Given the description of an element on the screen output the (x, y) to click on. 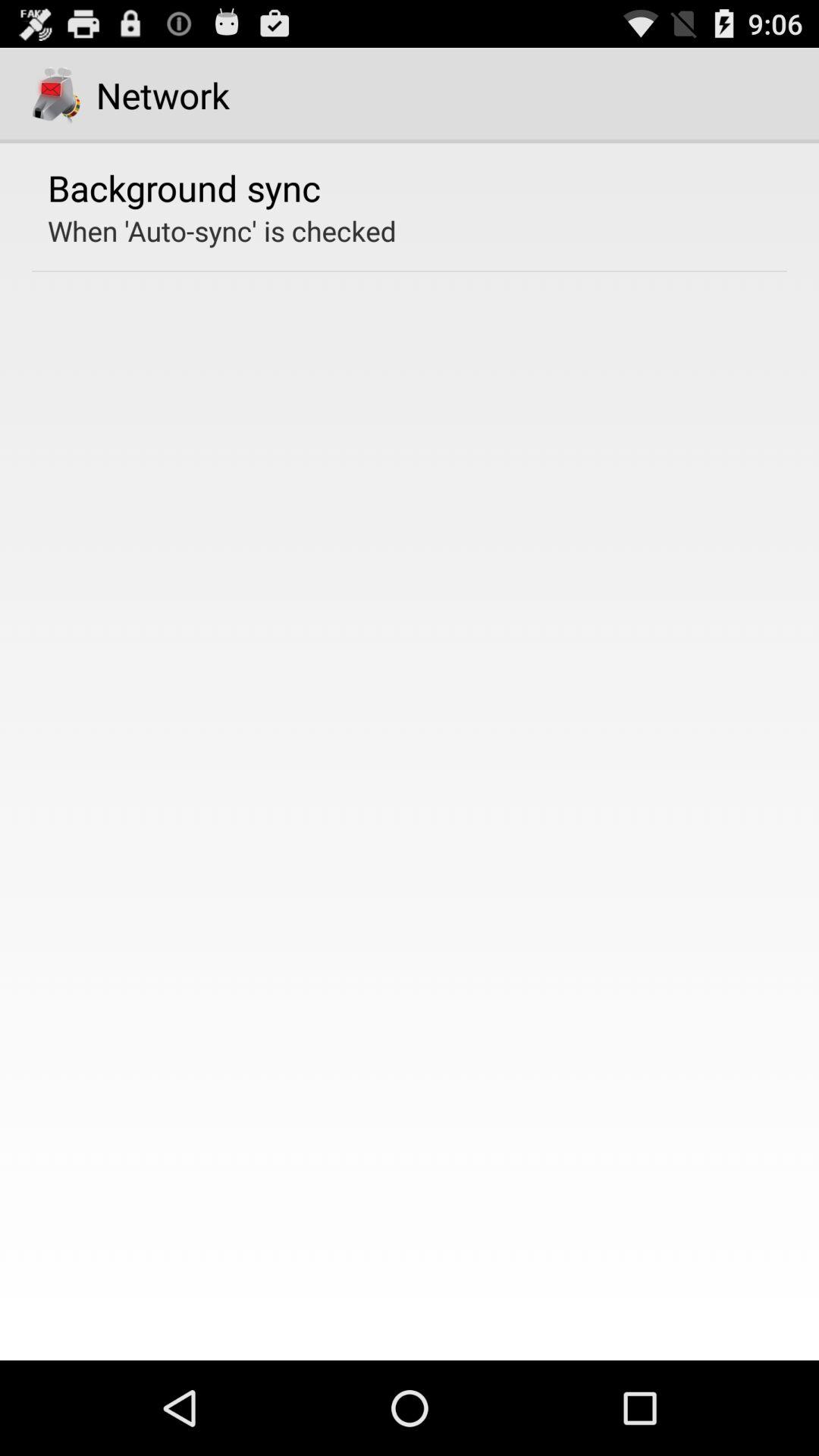
jump until background sync (183, 187)
